Given the description of an element on the screen output the (x, y) to click on. 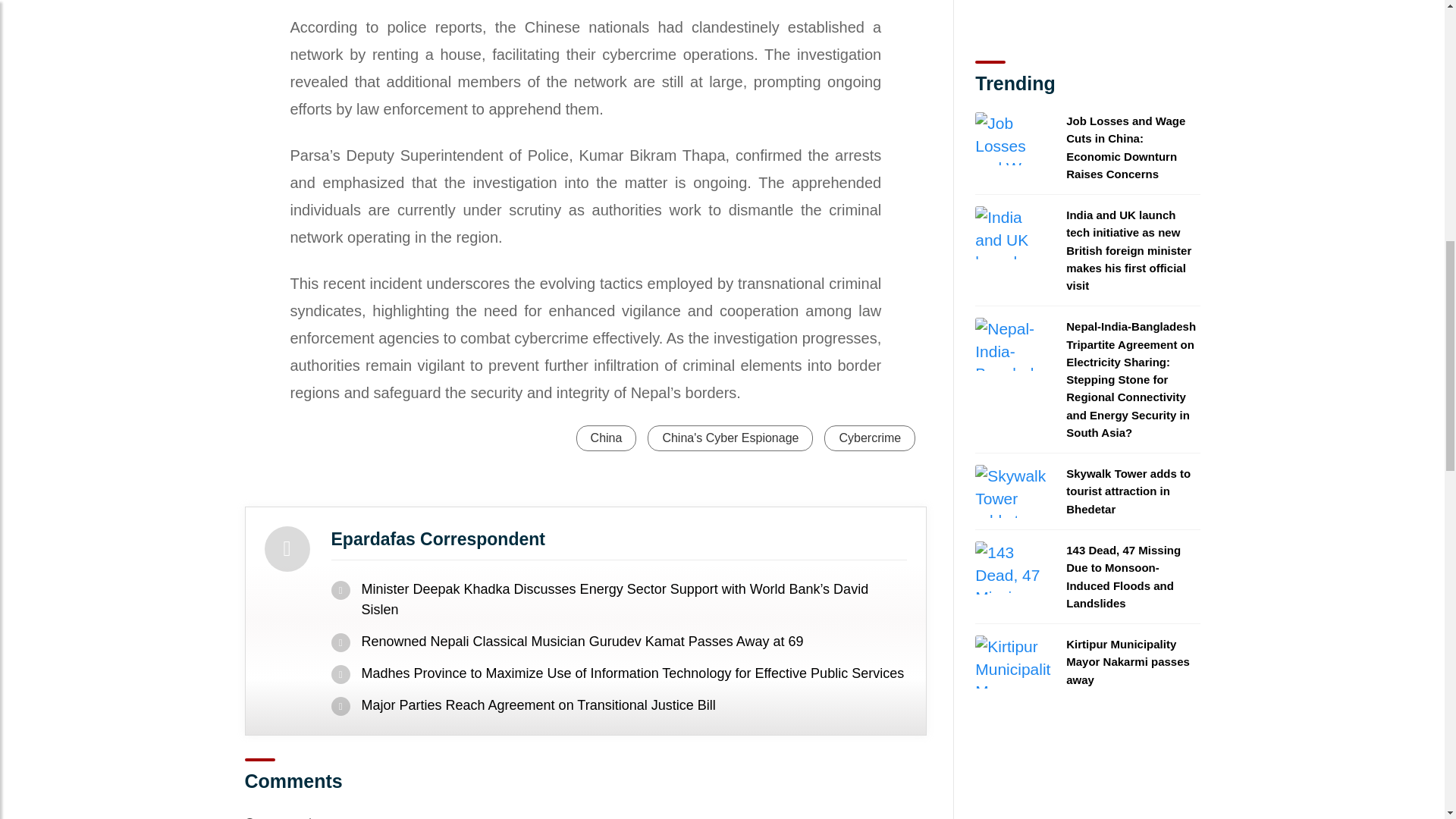
China's Cyber Espionage (729, 437)
China (606, 437)
